Given the description of an element on the screen output the (x, y) to click on. 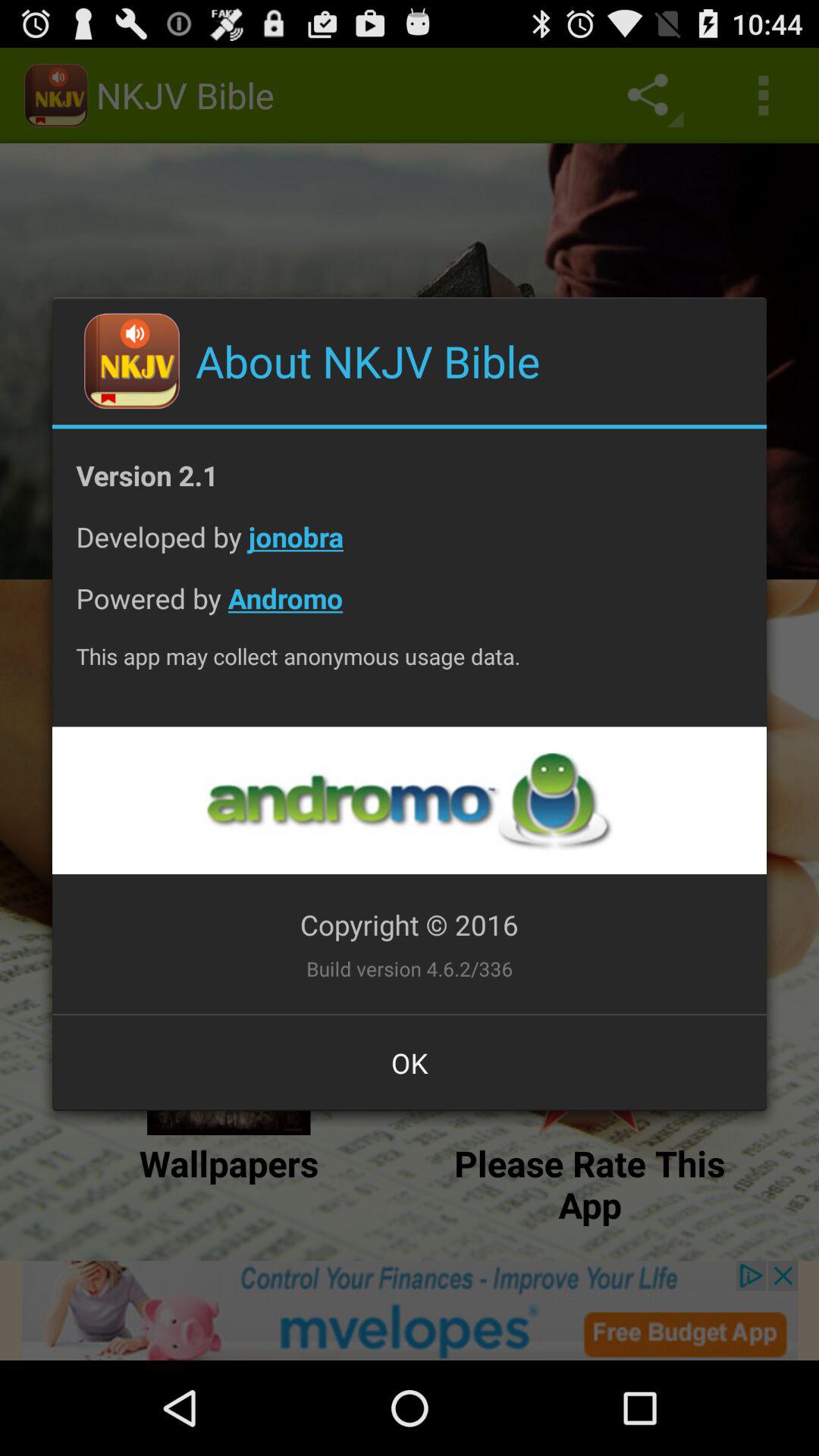
jump to the powered by andromo icon (409, 609)
